Given the description of an element on the screen output the (x, y) to click on. 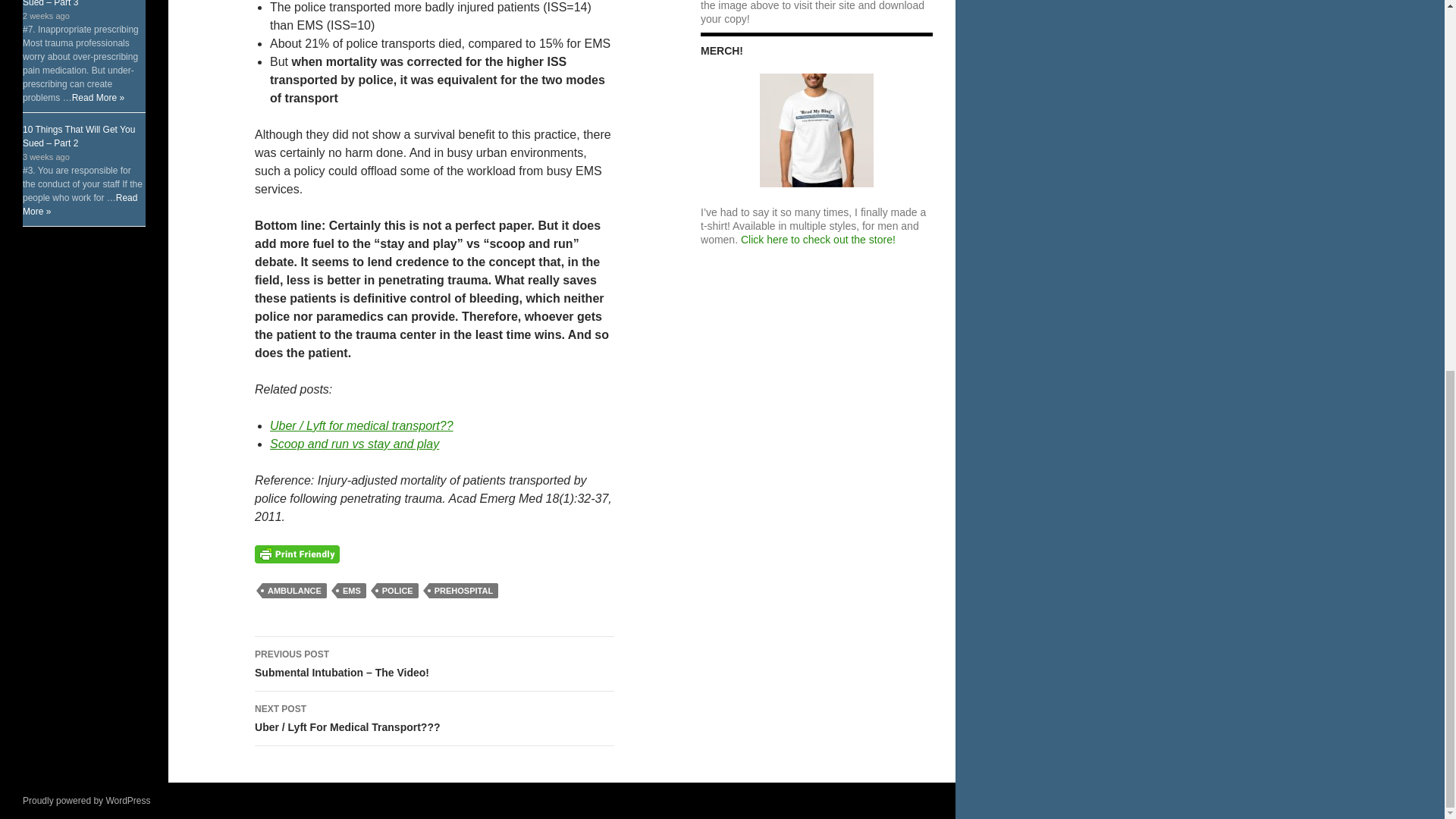
Scoop and run vs stay and play (354, 443)
Click here to check out the store! (818, 239)
POLICE (398, 590)
Scoop and run vs stay and play (354, 443)
EMS (351, 590)
PREHOSPITAL (463, 590)
AMBULANCE (294, 590)
